Given the description of an element on the screen output the (x, y) to click on. 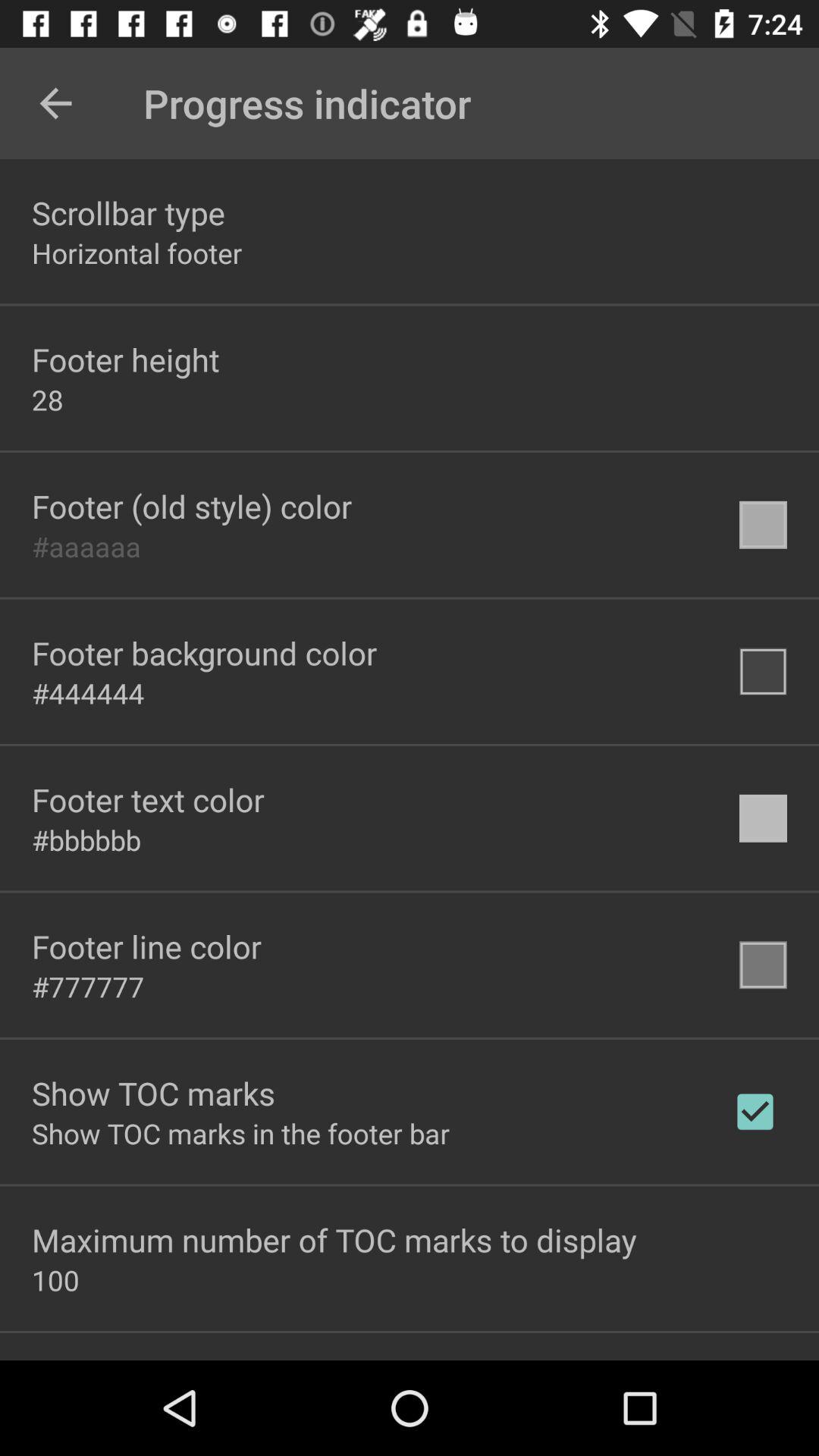
tap the item below the footer line color item (87, 986)
